Given the description of an element on the screen output the (x, y) to click on. 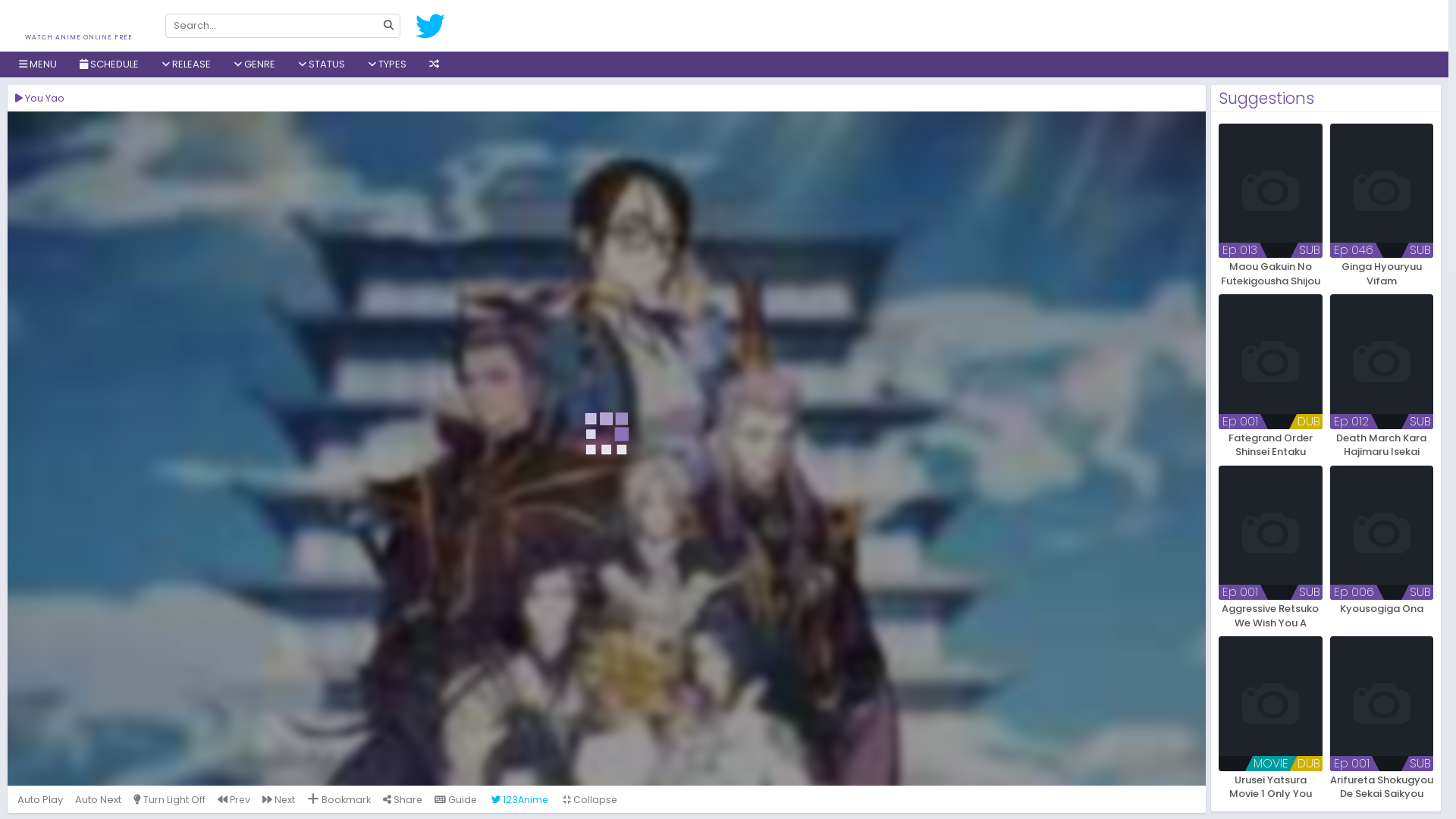
SUB
Ep 046 Element type: text (1382, 190)
TYPES Element type: text (386, 64)
SUB
Ep 001 Element type: text (1270, 532)
Follow us on Twitter Element type: hover (430, 25)
Aggressive Retsuko We Wish You A Metal Christmas Element type: text (1270, 615)
SUB
Ep 013 Element type: text (1270, 190)
Death March Kara Hajimaru Isekai Kyousoukyoku Element type: text (1382, 444)
123Anime Element type: text (519, 799)
STATUS Element type: text (321, 64)
GENRE Element type: text (254, 64)
SUB
Ep 006 Element type: text (1382, 532)
SCHEDULE Element type: text (109, 64)
DUB
Ep 001 Element type: text (1270, 361)
You Yao Element type: hover (606, 448)
MENU Element type: text (37, 64)
SUB
Ep 001 Element type: text (1382, 703)
SUB
Ep 012 Element type: text (1382, 361)
Kyousogiga Ona Element type: text (1382, 615)
RELEASE Element type: text (186, 64)
WATCH ANIME ONLINE FREE Element type: text (78, 30)
Arifureta Shokugyou De Sekai Saikyou Prologue Element type: text (1382, 786)
Urusei Yatsura Movie 1 Only You Element type: text (1270, 786)
DUB
MOVIE Element type: text (1270, 703)
Ginga Hyouryuu Vifam Element type: text (1382, 273)
